Given the description of an element on the screen output the (x, y) to click on. 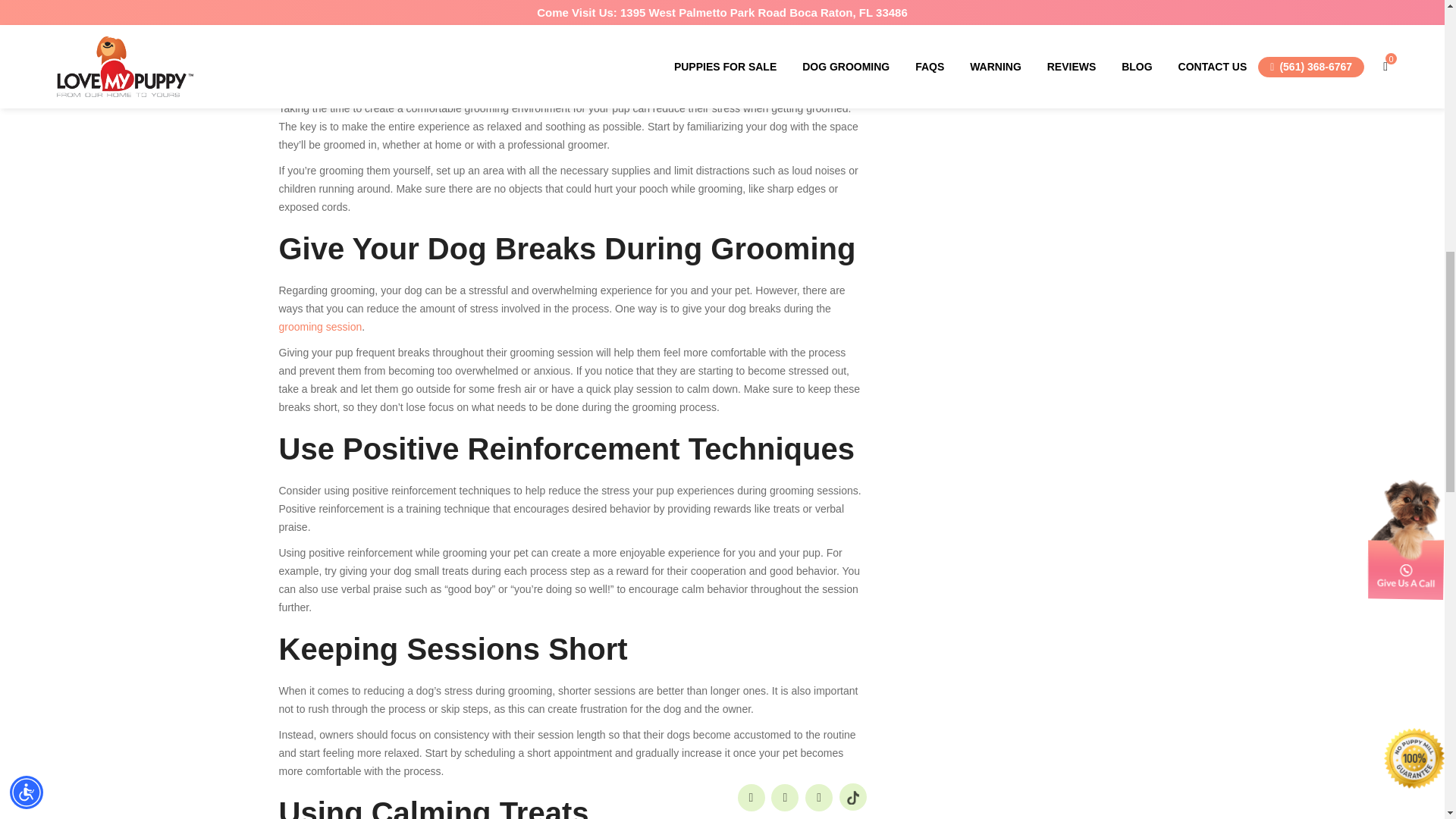
Scroll To Top (1417, 22)
